Given the description of an element on the screen output the (x, y) to click on. 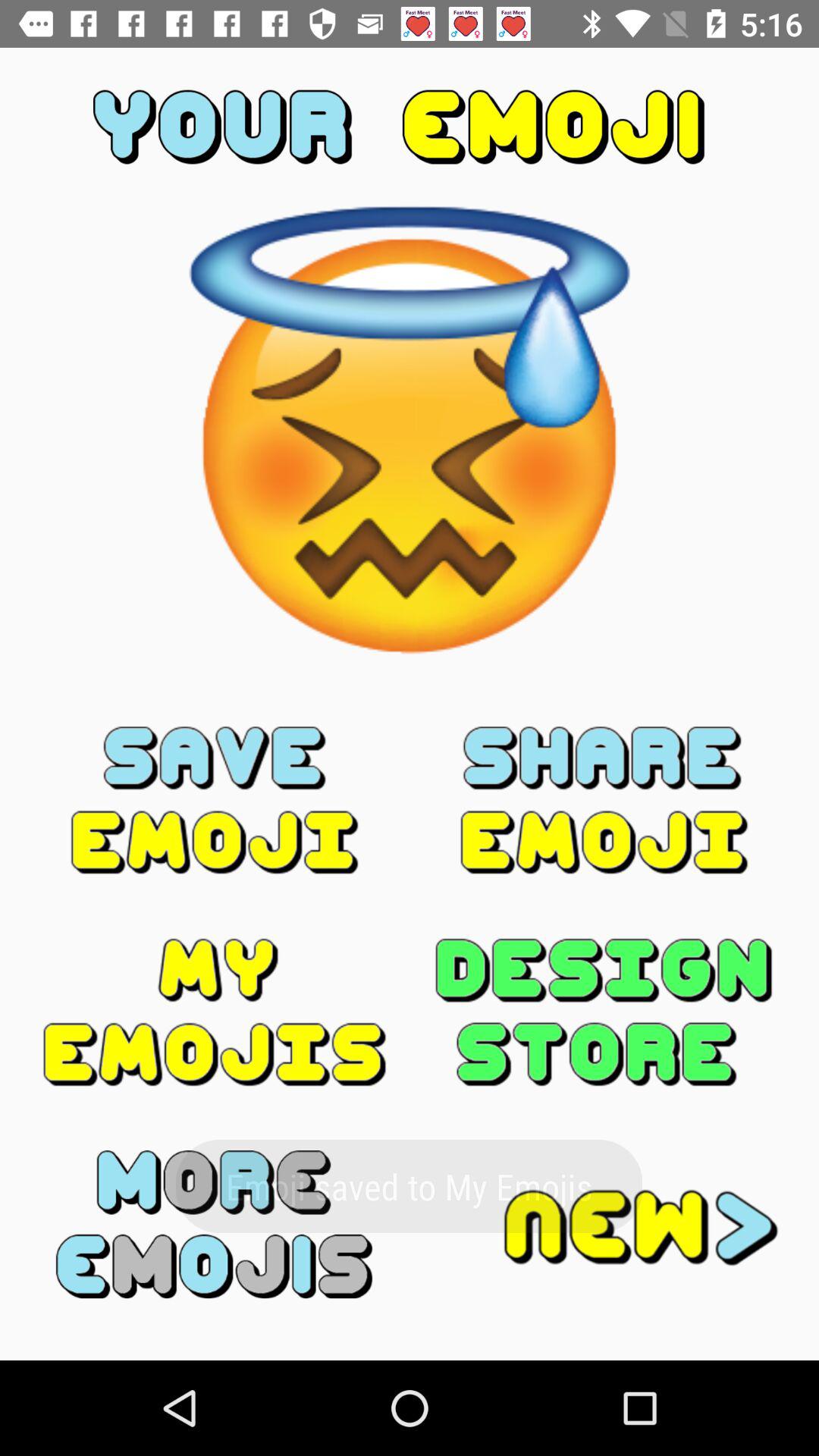
click on my emojis (214, 1012)
